Given the description of an element on the screen output the (x, y) to click on. 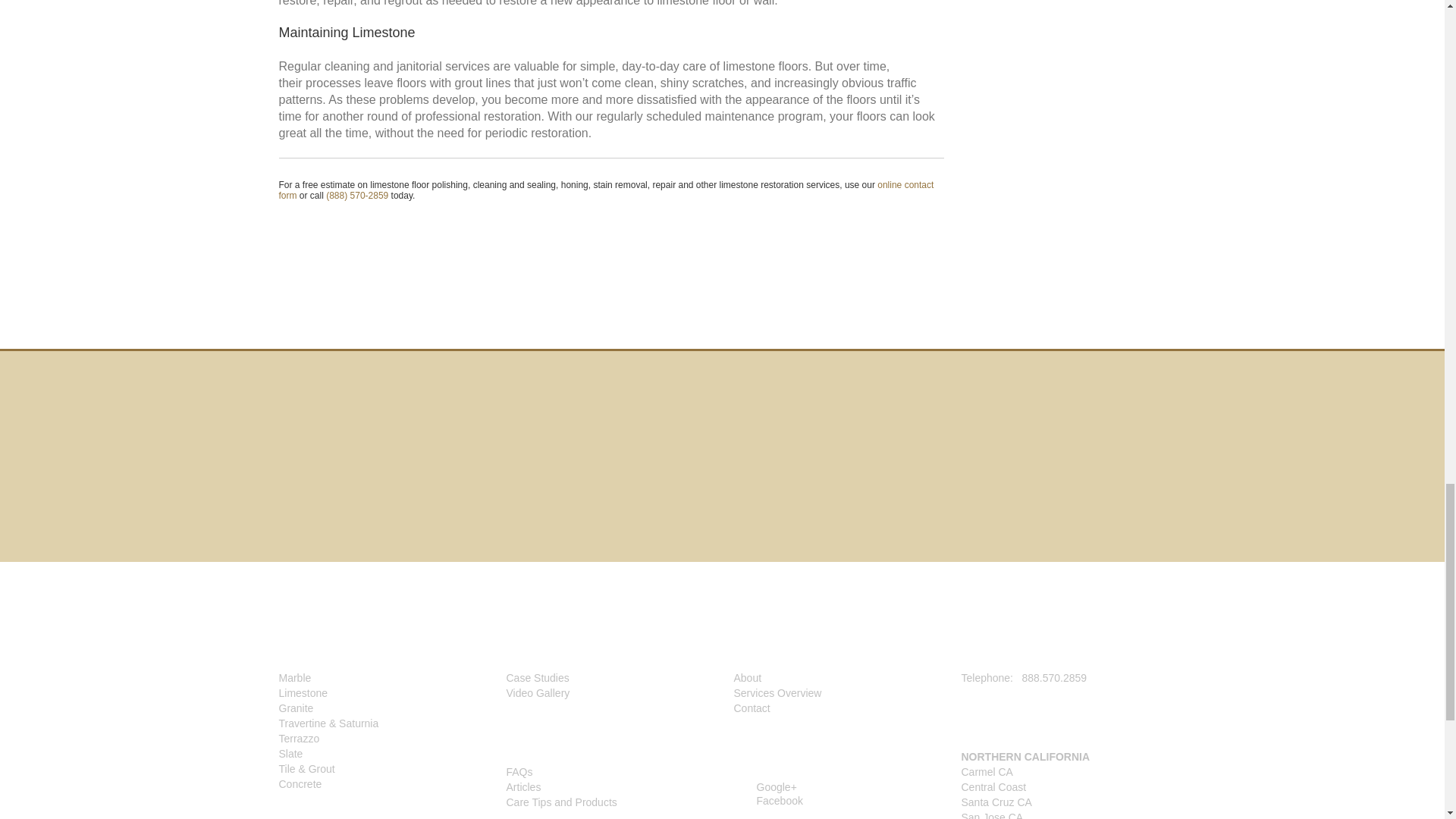
Certified SafeandCompliant.net Company. (796, 470)
Surface Care PRO Partner. Click to verify. (663, 467)
Facebook (768, 800)
